Given the description of an element on the screen output the (x, y) to click on. 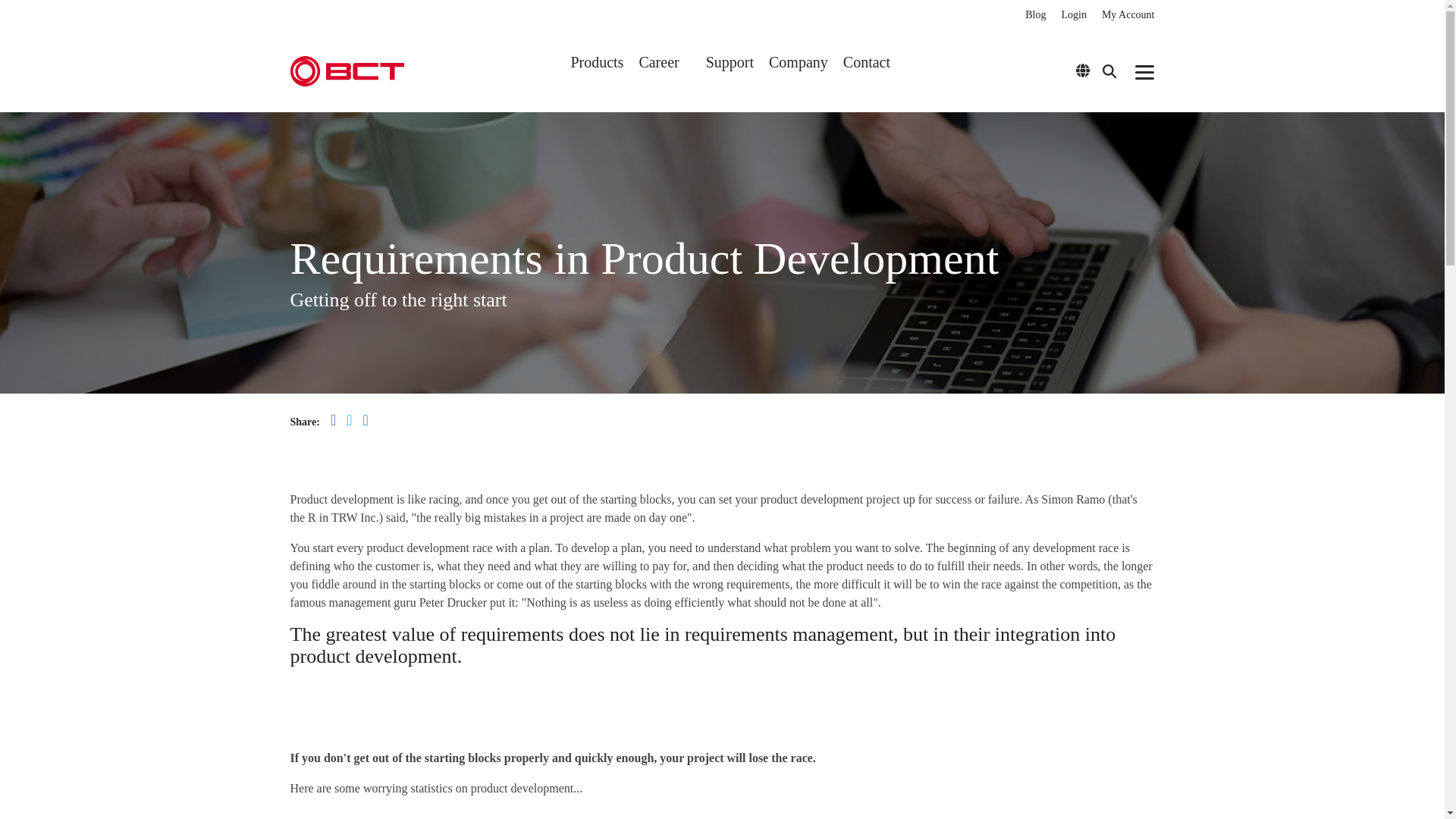
Products (596, 62)
Blog (1027, 14)
My Account (1120, 14)
Career    (664, 62)
Login (1065, 14)
Support (730, 62)
